Given the description of an element on the screen output the (x, y) to click on. 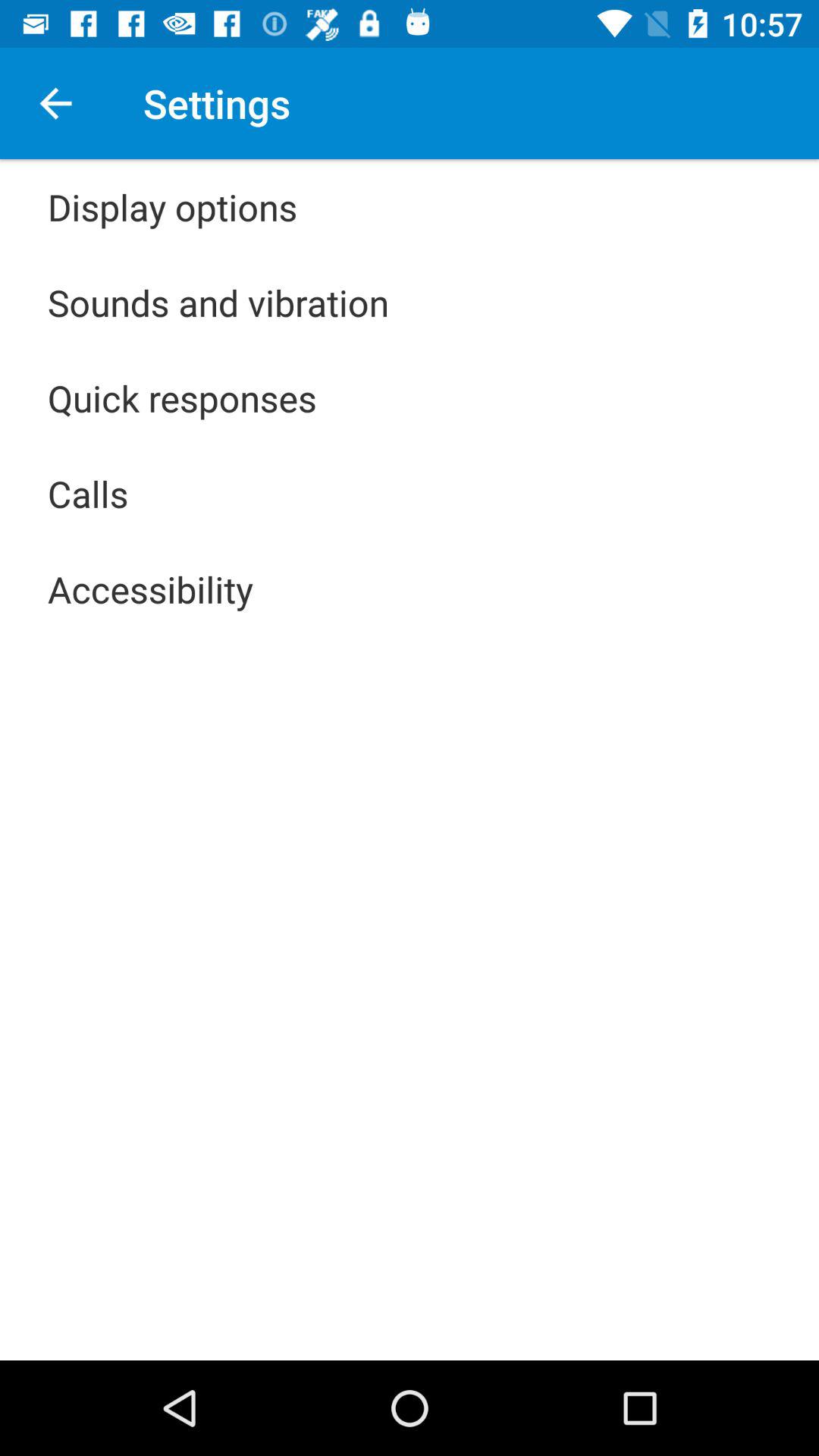
press app below the calls icon (150, 588)
